Given the description of an element on the screen output the (x, y) to click on. 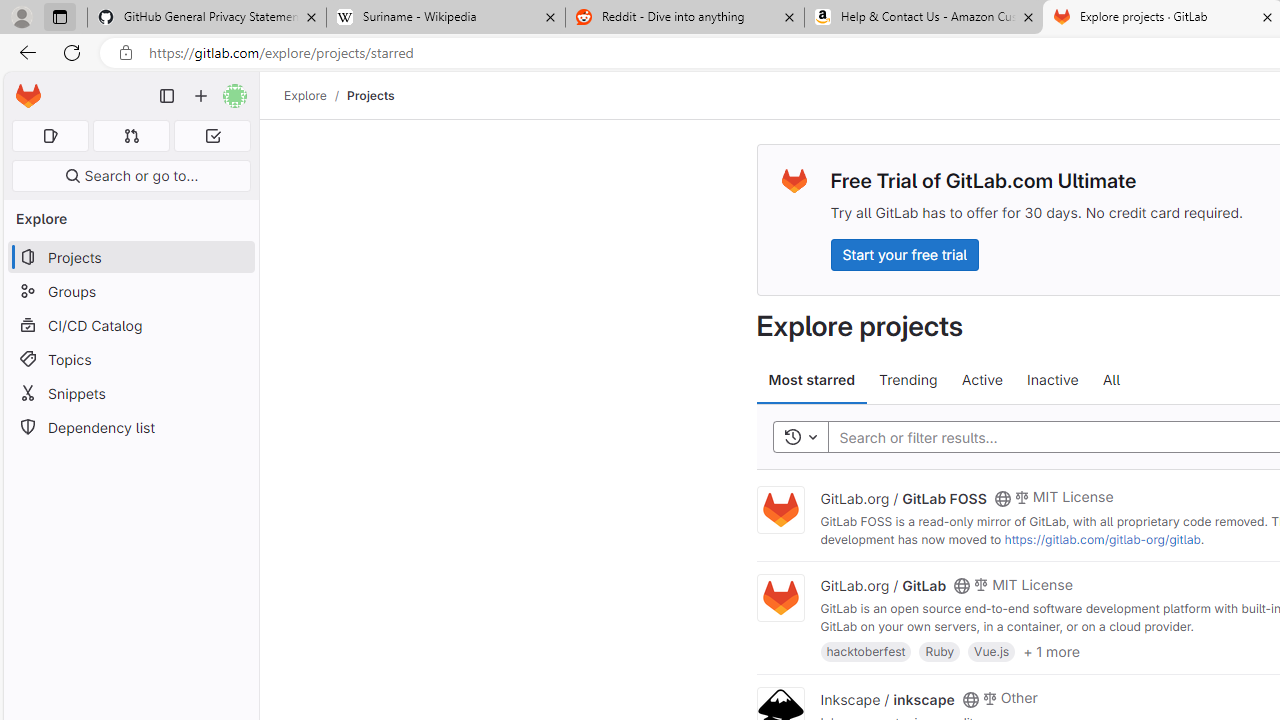
Topics (130, 358)
GitHub General Privacy Statement - GitHub Docs (207, 17)
Projects (370, 95)
Dependency list (130, 427)
Inactive (1052, 379)
Merge requests 0 (131, 136)
Start your free trial (904, 254)
Most starred (811, 379)
To-Do list 0 (212, 136)
Trending (907, 379)
